Given the description of an element on the screen output the (x, y) to click on. 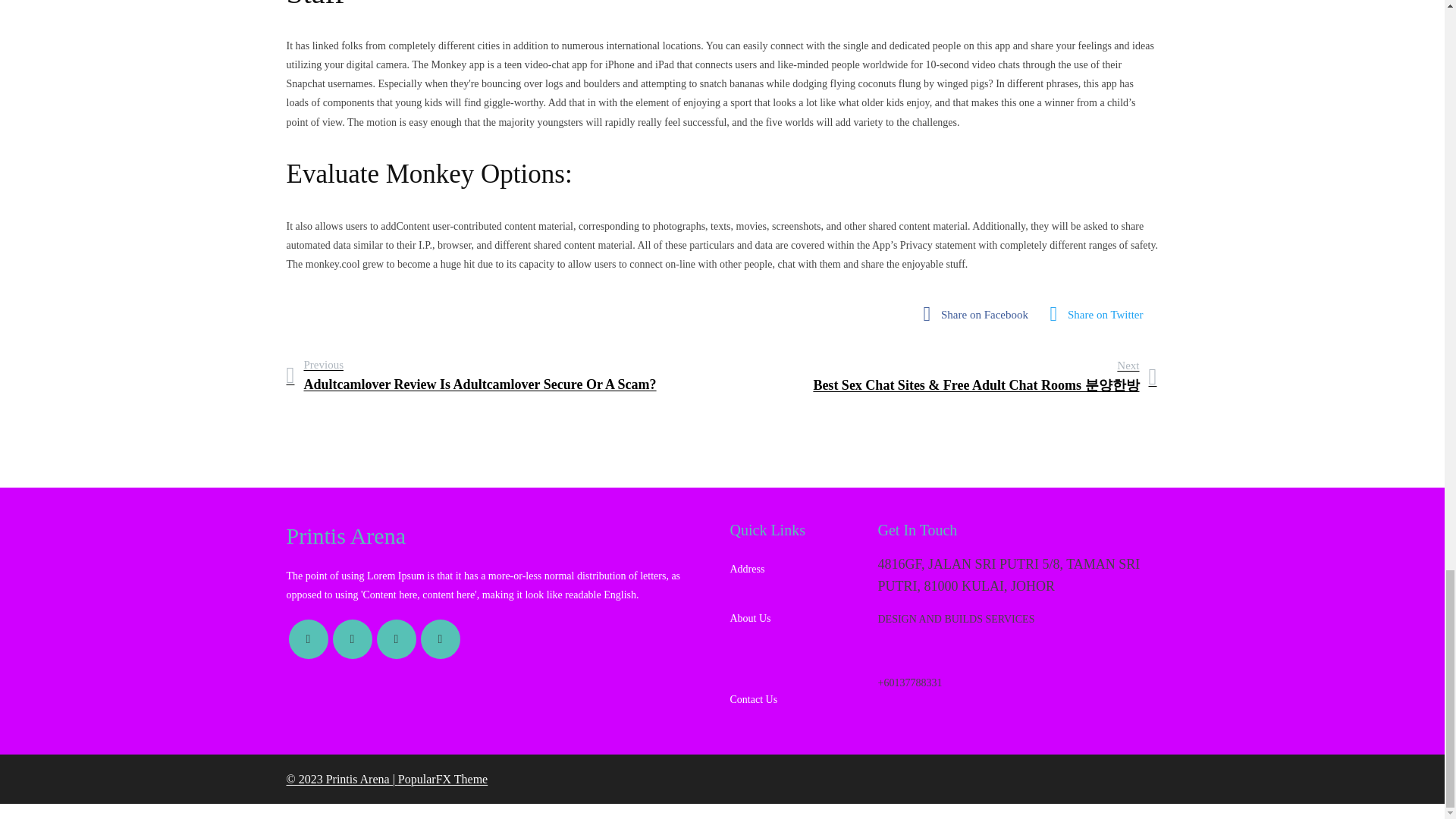
Share on Twitter (1100, 314)
Printis Arena (500, 535)
fab fa-facebook-square (980, 314)
About Us (795, 610)
PopularFX Theme (442, 779)
Address (795, 569)
Share on Facebook (980, 314)
Contact Us (795, 691)
fab fa-twitter-square (1100, 314)
